Given the description of an element on the screen output the (x, y) to click on. 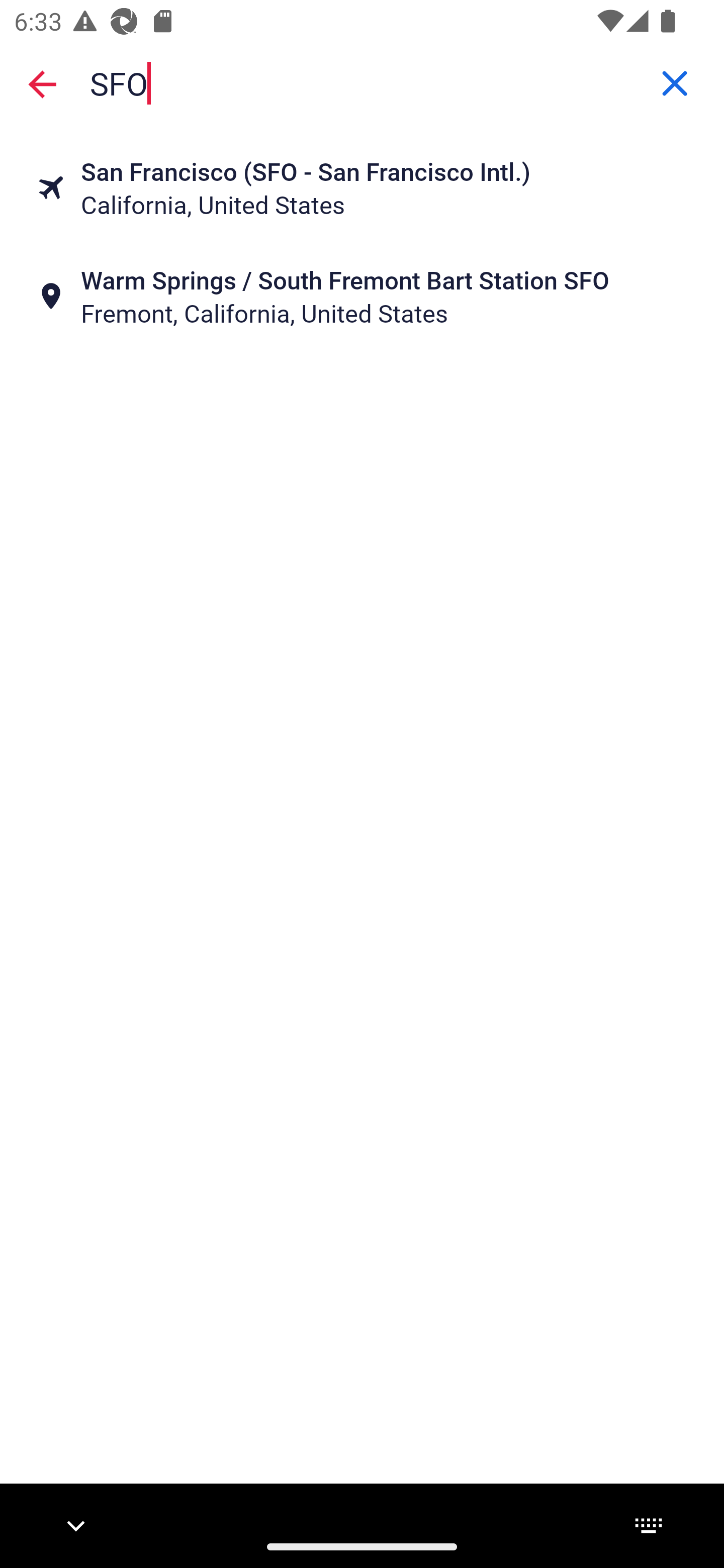
Clear Drop-off (674, 82)
Drop-off, SFO (361, 82)
Close search screen (41, 83)
